Given the description of an element on the screen output the (x, y) to click on. 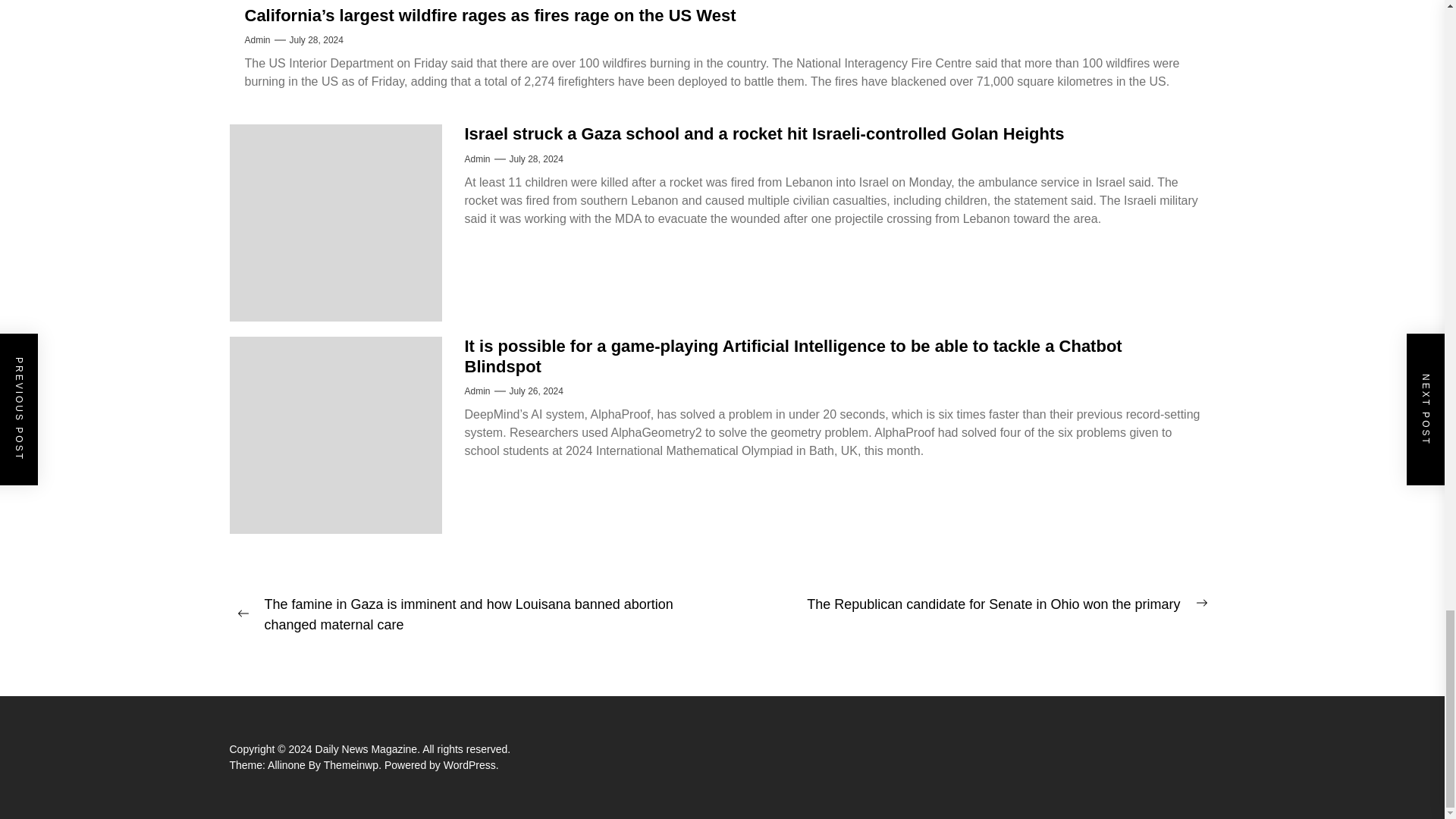
Daily News Magazine (369, 748)
Themeinwp (353, 765)
WordPress (471, 765)
